Given the description of an element on the screen output the (x, y) to click on. 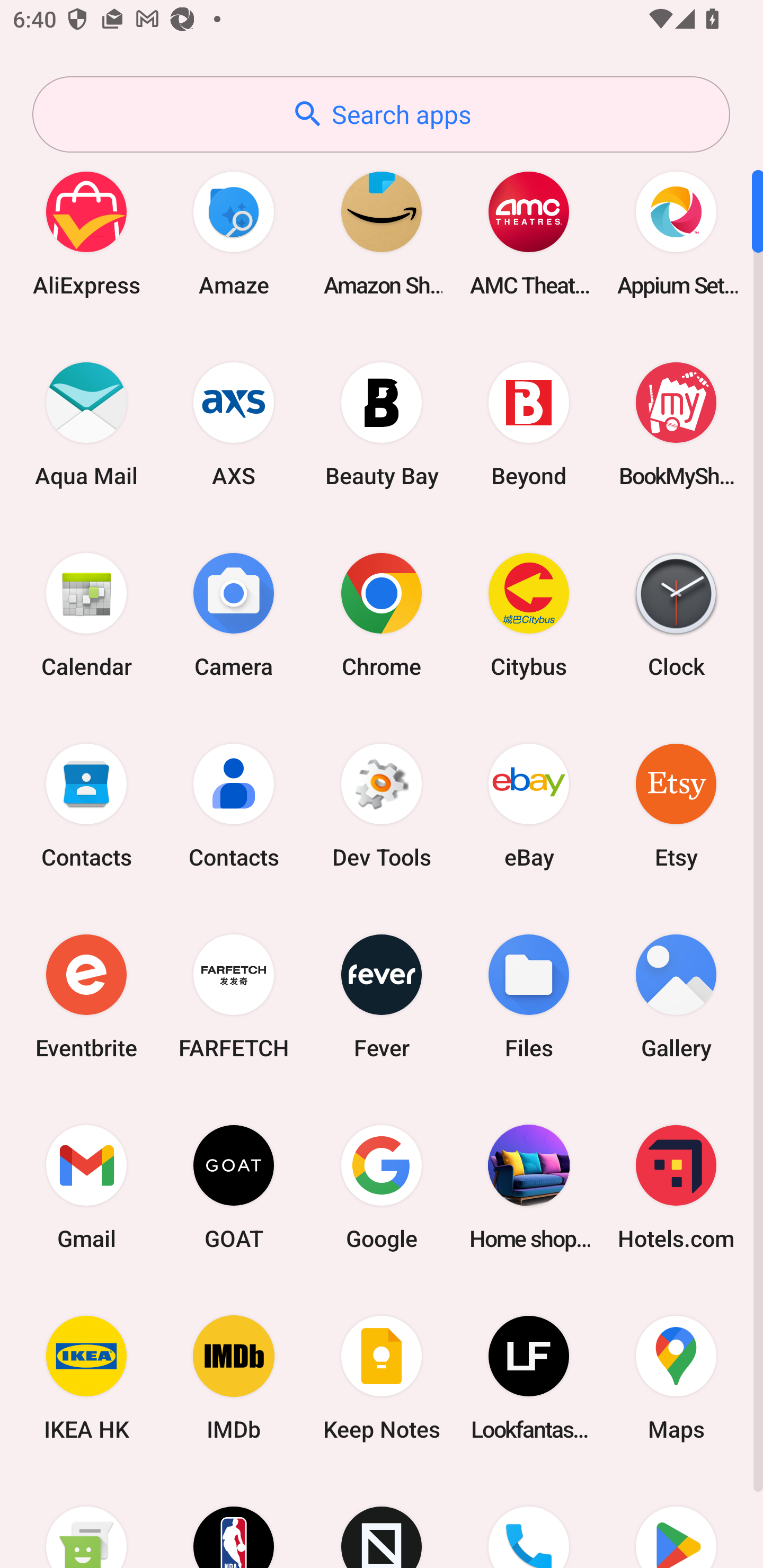
  Search apps (381, 114)
AliExpress (86, 233)
Amaze (233, 233)
Amazon Shopping (381, 233)
AMC Theatres (528, 233)
Appium Settings (676, 233)
Aqua Mail (86, 424)
AXS (233, 424)
Beauty Bay (381, 424)
Beyond (528, 424)
BookMyShow (676, 424)
Calendar (86, 614)
Camera (233, 614)
Chrome (381, 614)
Citybus (528, 614)
Clock (676, 614)
Contacts (86, 805)
Contacts (233, 805)
Dev Tools (381, 805)
eBay (528, 805)
Etsy (676, 805)
Eventbrite (86, 996)
FARFETCH (233, 996)
Fever (381, 996)
Files (528, 996)
Gallery (676, 996)
Gmail (86, 1186)
GOAT (233, 1186)
Google (381, 1186)
Home shopping (528, 1186)
Hotels.com (676, 1186)
IKEA HK (86, 1377)
IMDb (233, 1377)
Keep Notes (381, 1377)
Lookfantastic (528, 1377)
Maps (676, 1377)
Messaging (86, 1520)
NBA (233, 1520)
Novelship (381, 1520)
Phone (528, 1520)
Play Store (676, 1520)
